Given the description of an element on the screen output the (x, y) to click on. 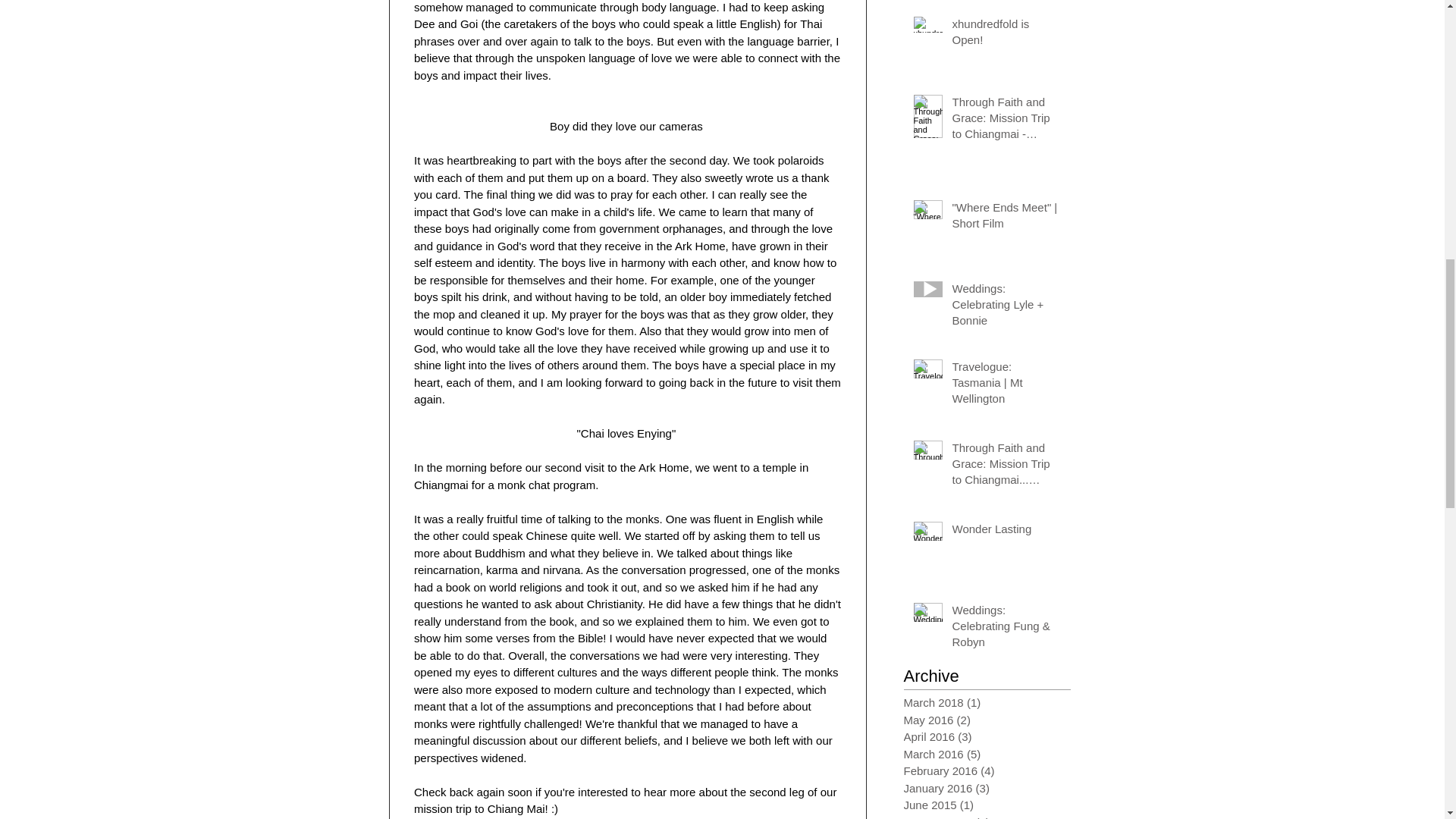
xhundredfold is Open! (1006, 34)
Wonder Lasting (1006, 531)
